Given the description of an element on the screen output the (x, y) to click on. 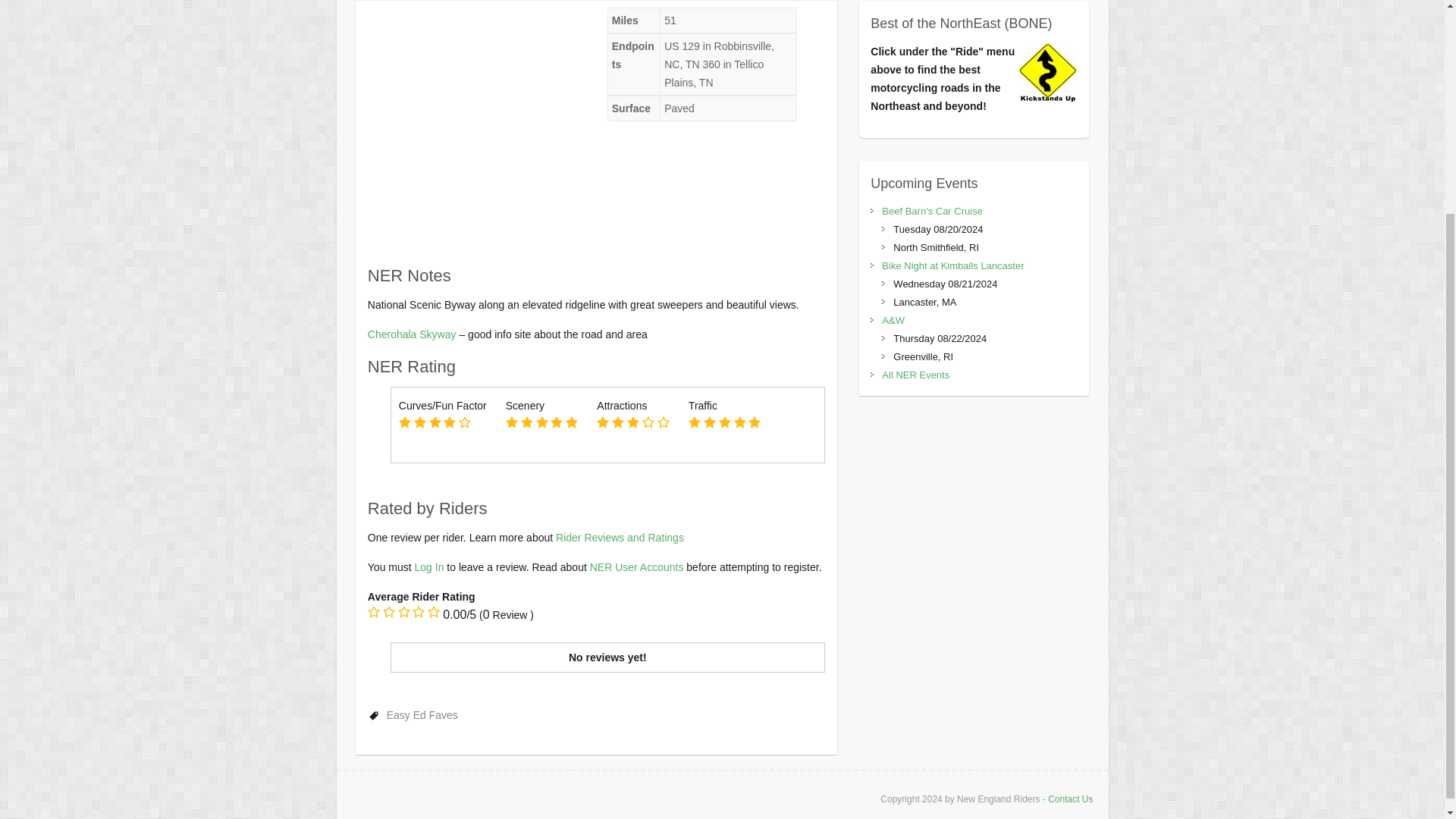
More Curves Than Not (404, 422)
Cherohala Skyway (412, 334)
More Curves Than Not (435, 422)
More Curves Than Not (464, 422)
More Curves Than Not (419, 422)
More Curves Than Not (449, 422)
More Curves Than Not (442, 422)
